Given the description of an element on the screen output the (x, y) to click on. 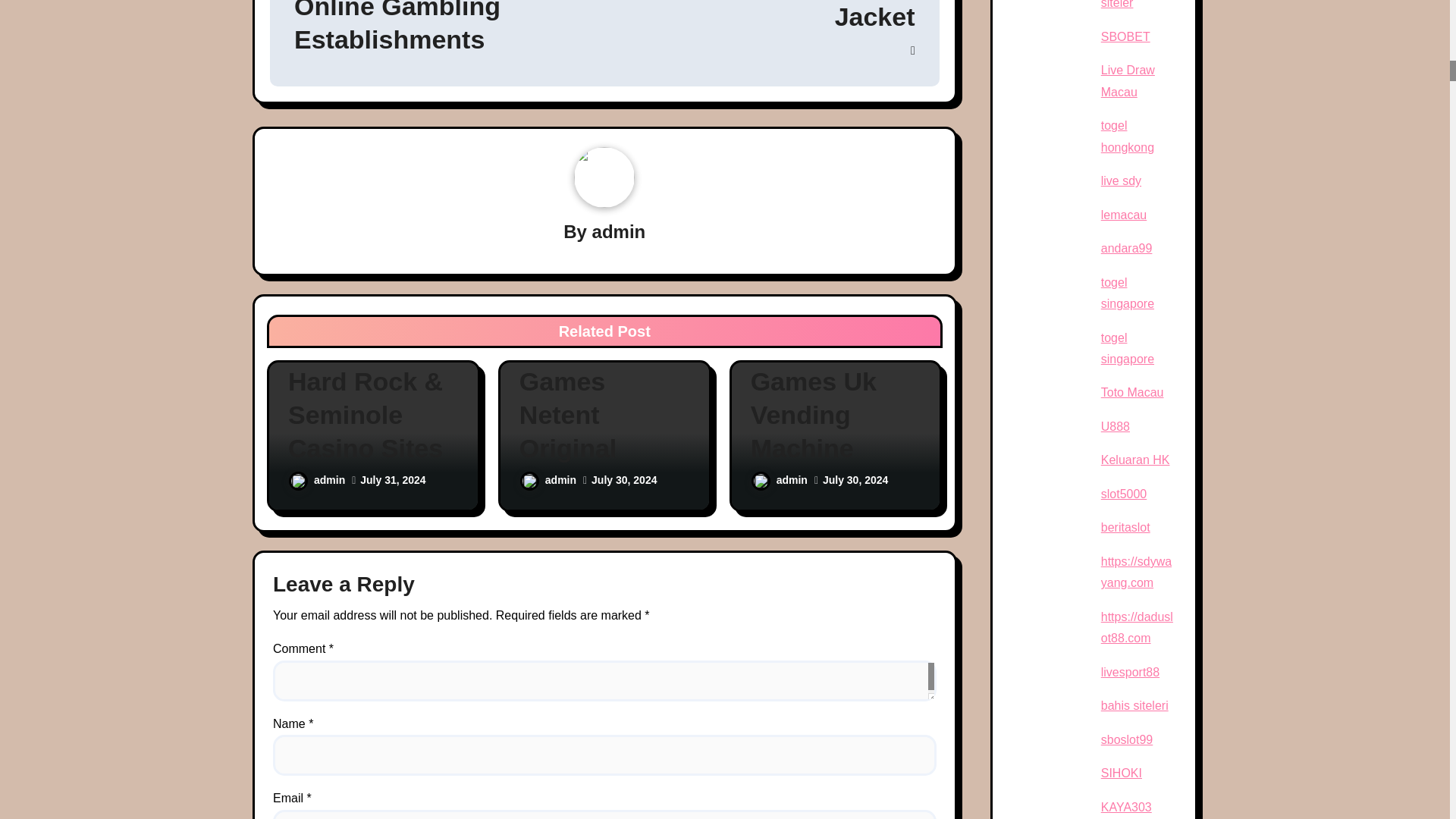
admin (547, 480)
admin (316, 480)
admin (619, 231)
July 31, 2024 (392, 480)
July 30, 2024 (623, 480)
No Down Payment Enrollment Reward 888casino Brand-new Jacket (759, 28)
